Given the description of an element on the screen output the (x, y) to click on. 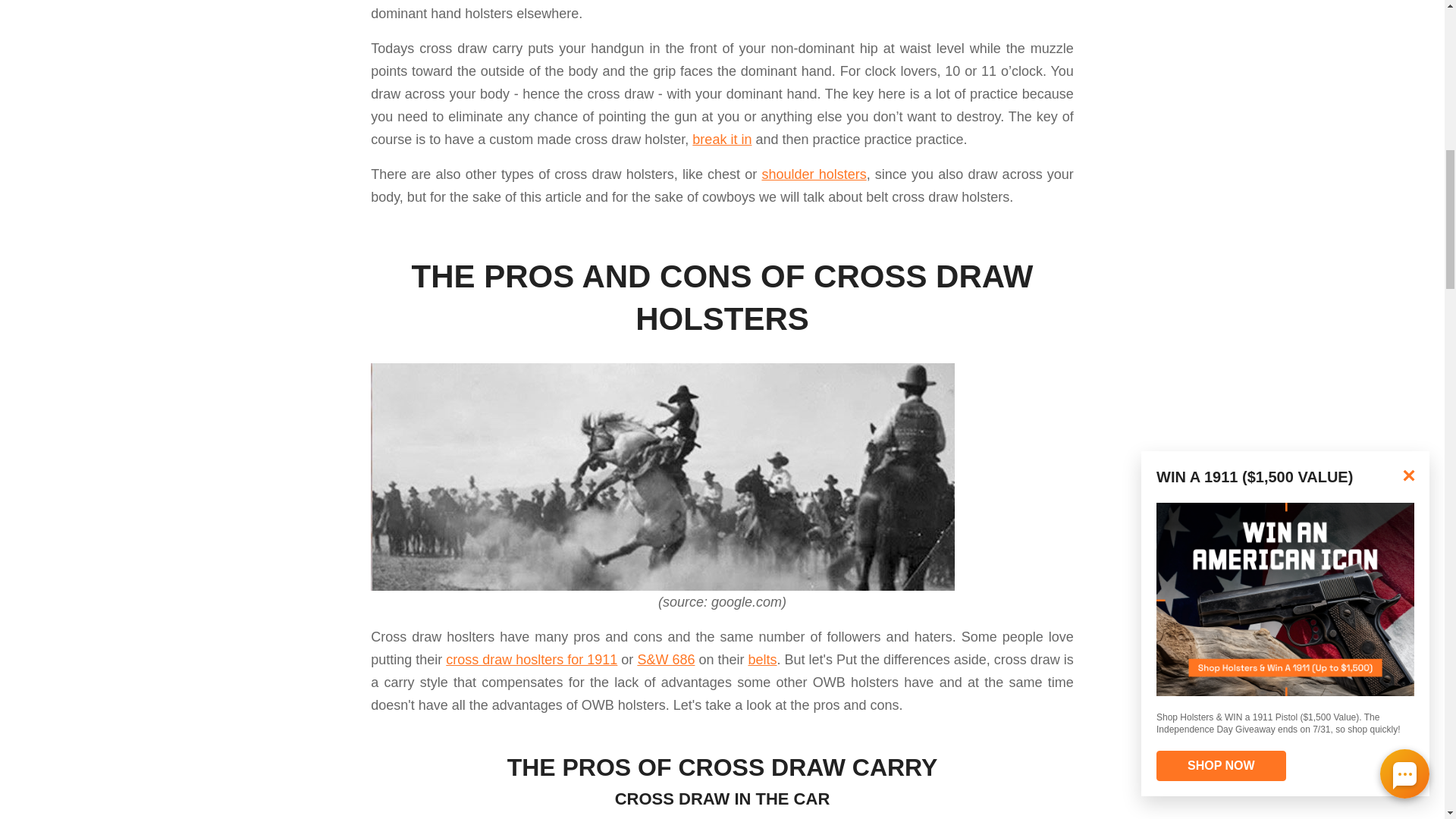
belts (762, 659)
cross draw hoslters for 1911 (531, 659)
shoulder holsters (813, 174)
break it in (722, 139)
